Given the description of an element on the screen output the (x, y) to click on. 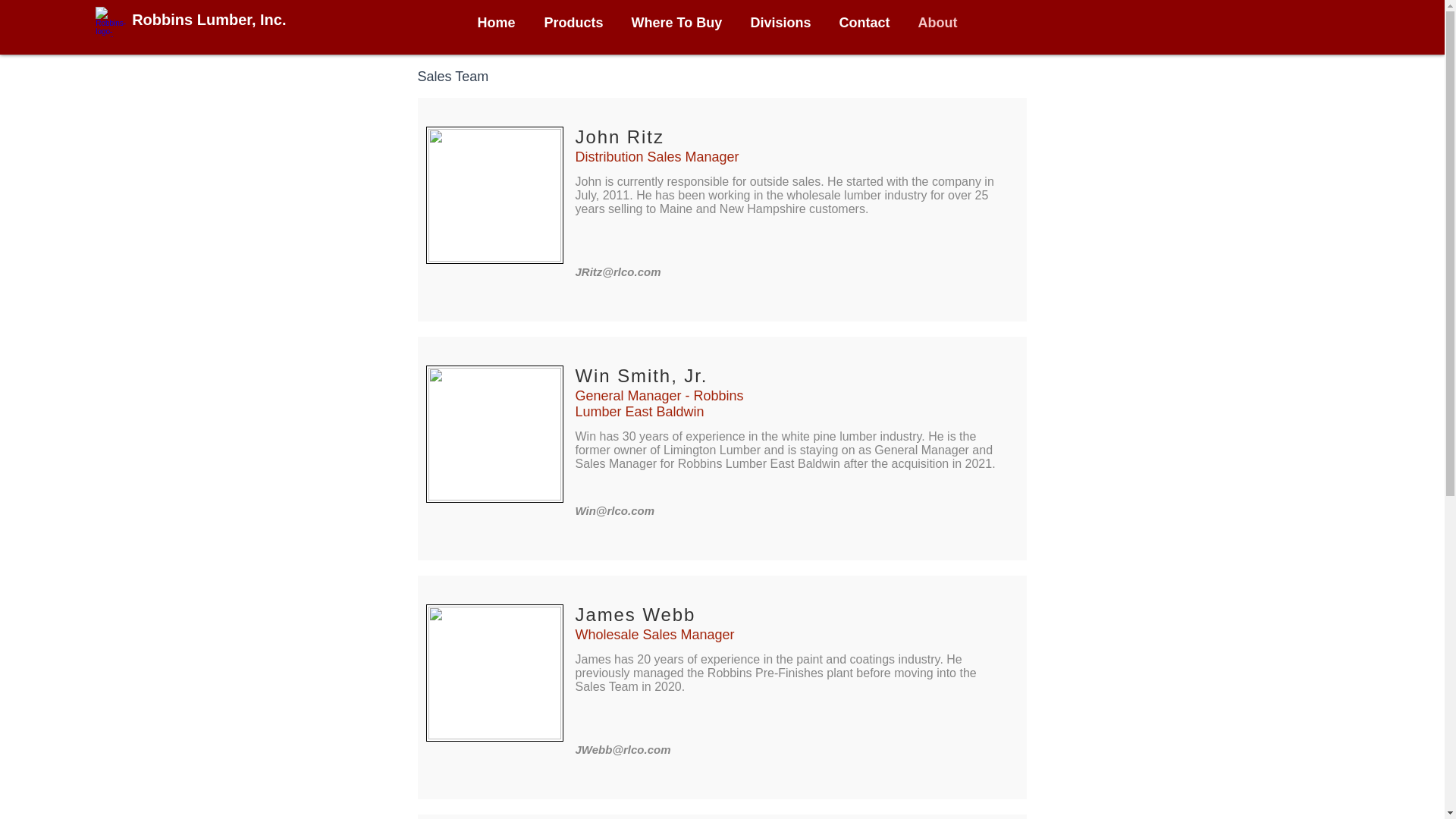
Divisions (786, 22)
Robbins Lumber, Inc. (208, 19)
Home (503, 22)
Products (580, 22)
Contact (870, 22)
About (943, 22)
Where To Buy (682, 22)
